Given the description of an element on the screen output the (x, y) to click on. 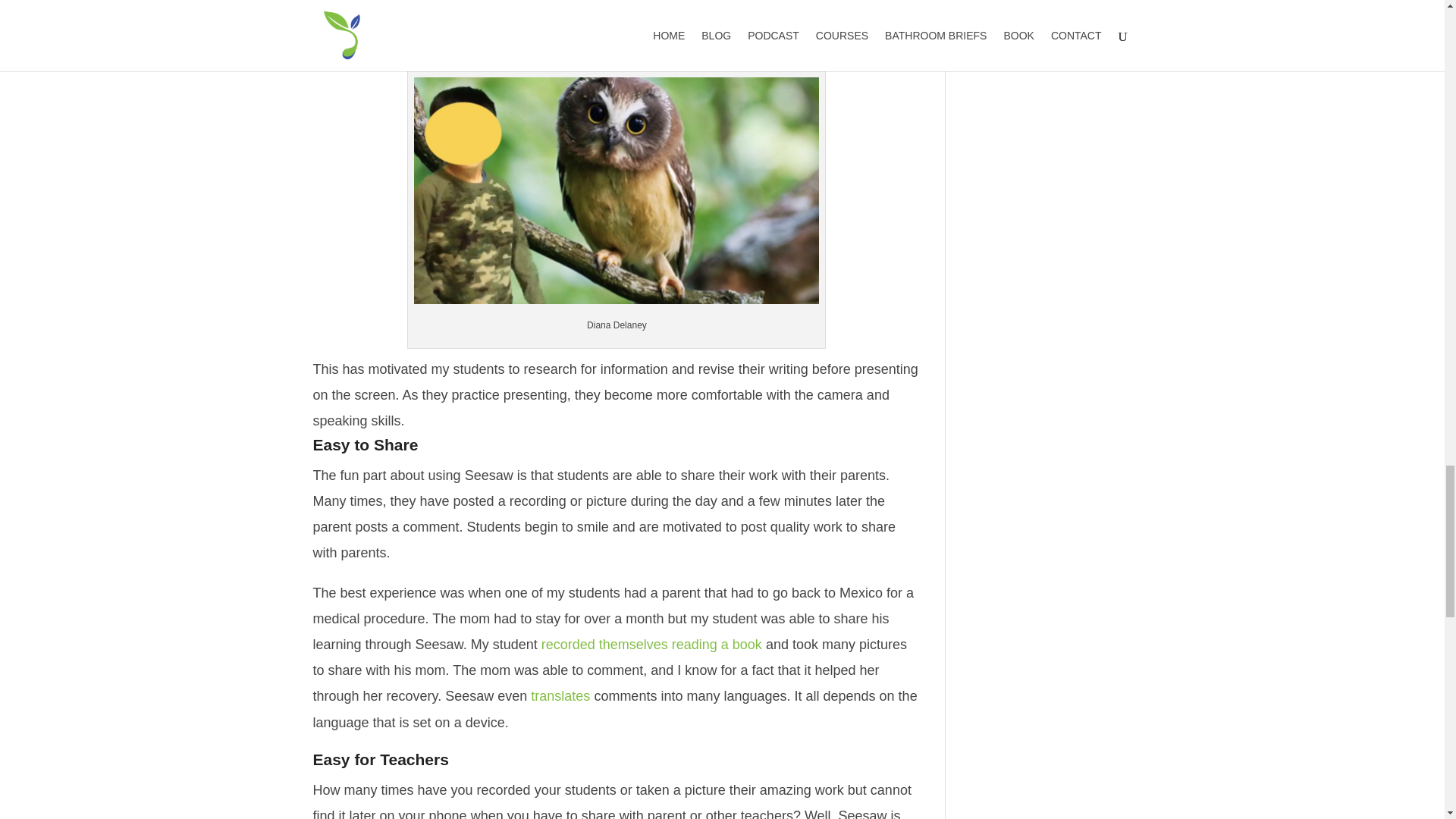
translates (562, 695)
recorded themselves reading a book (653, 644)
